Given the description of an element on the screen output the (x, y) to click on. 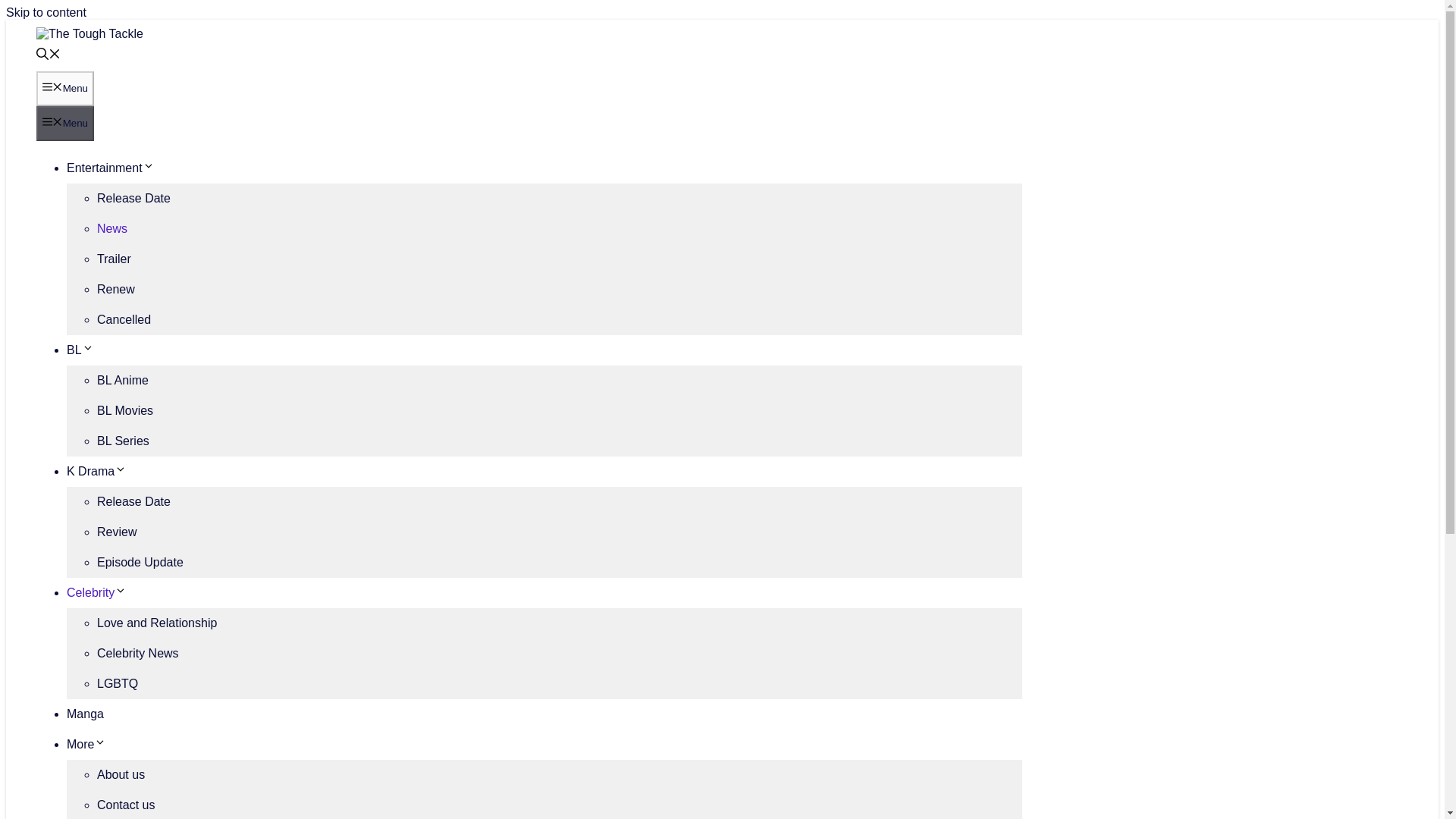
BL (80, 349)
Celebrity News (138, 653)
Contact us (125, 804)
More (86, 744)
Menu (65, 123)
Love and Relationship (156, 622)
Episode Update (140, 562)
Renew (116, 288)
Cancelled (124, 318)
Skip to content (45, 11)
